Given the description of an element on the screen output the (x, y) to click on. 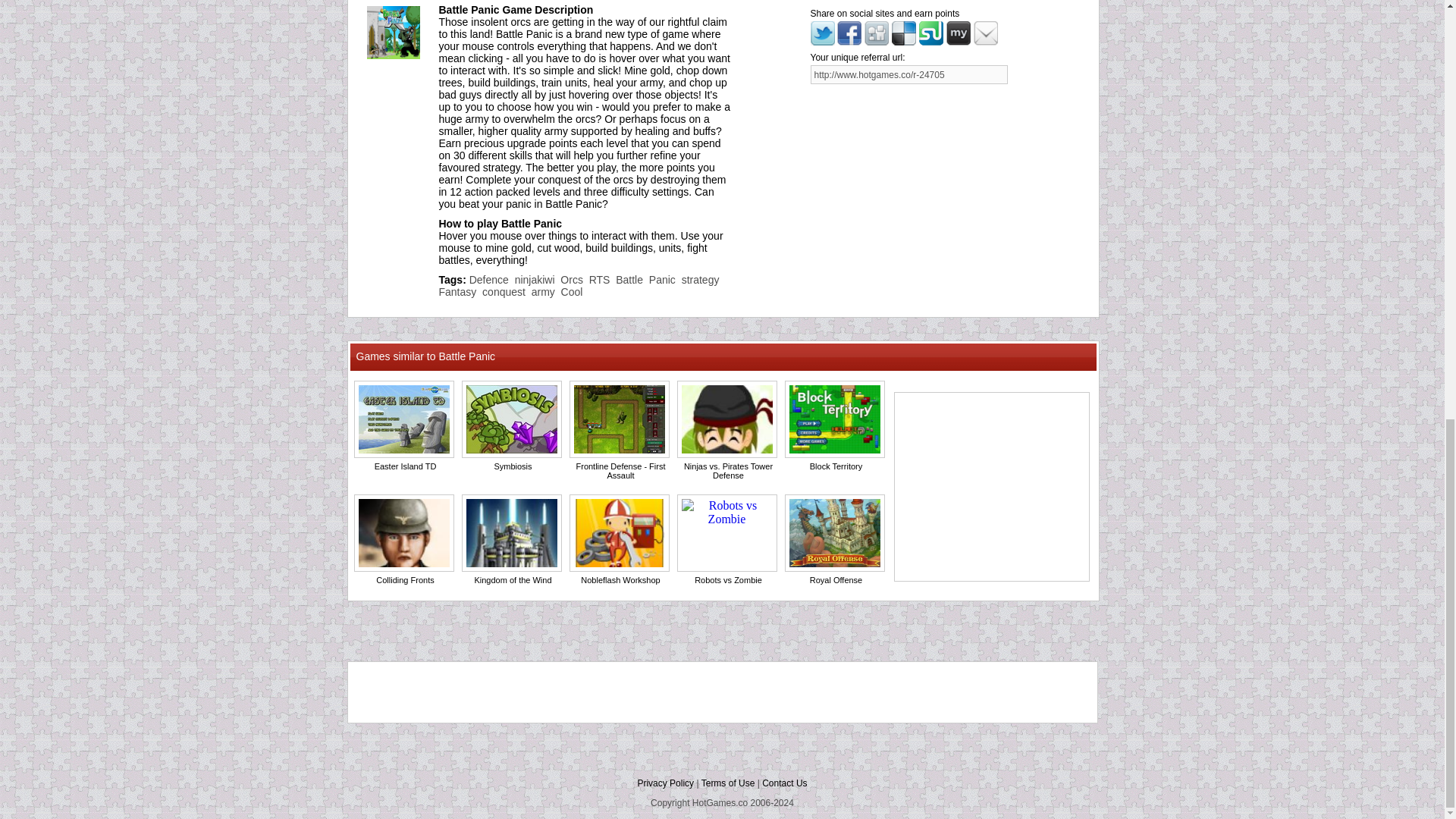
Twitter (821, 41)
Facebook (849, 41)
Frontline Defense - First Assault (620, 470)
Digg (876, 41)
Symbiosis (512, 465)
Fantasy (457, 291)
Delicious (903, 33)
Stumbleupon (930, 41)
army (542, 291)
Digg (876, 33)
